Given the description of an element on the screen output the (x, y) to click on. 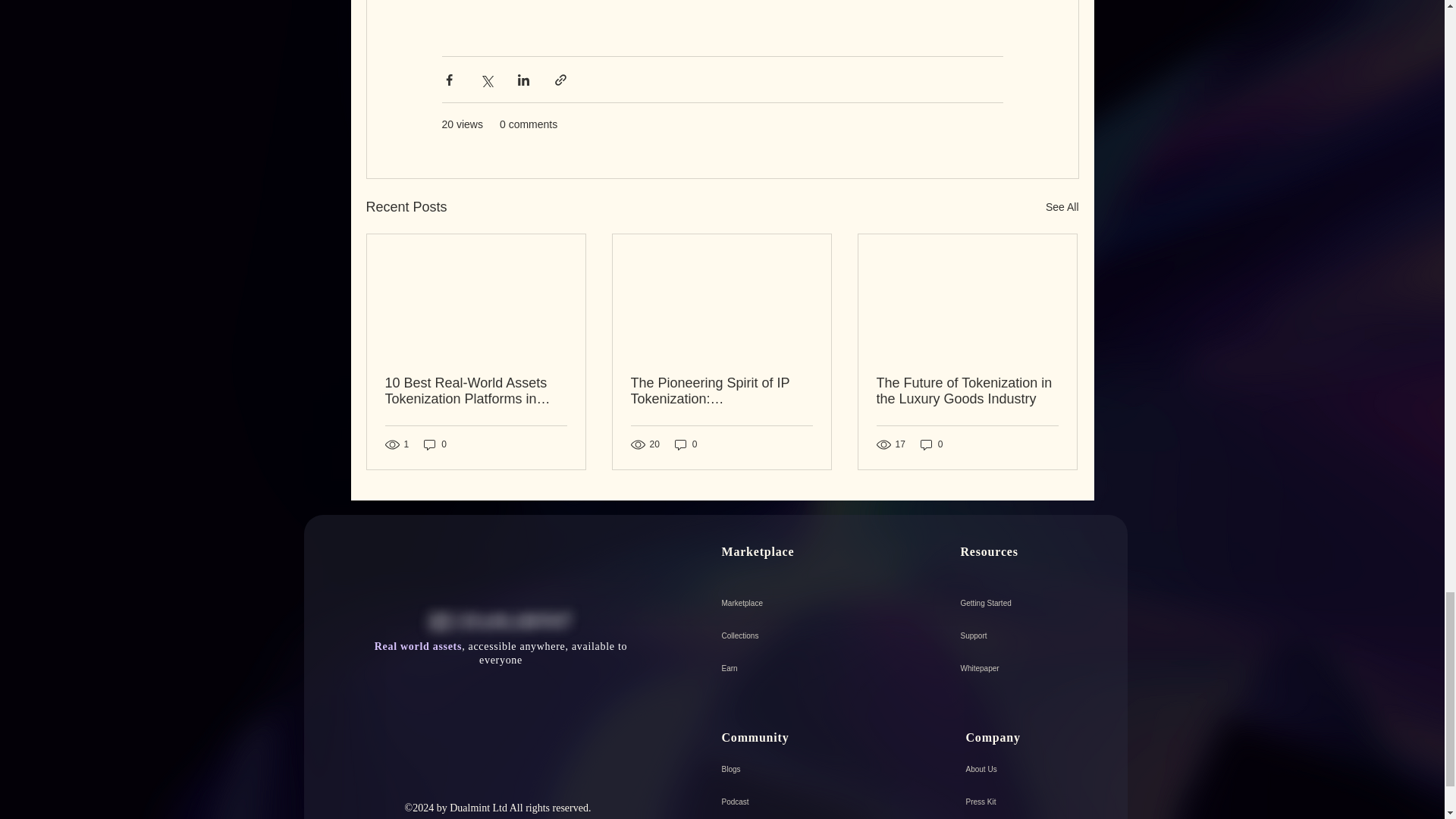
10 Best Real-World Assets Tokenization Platforms in 2024 (476, 391)
The Future of Tokenization in the Luxury Goods Industry (967, 391)
Collections (799, 635)
Marketplace (799, 603)
0 (931, 443)
0 (435, 443)
See All (1061, 207)
0 (685, 443)
Earn (799, 667)
